Given the description of an element on the screen output the (x, y) to click on. 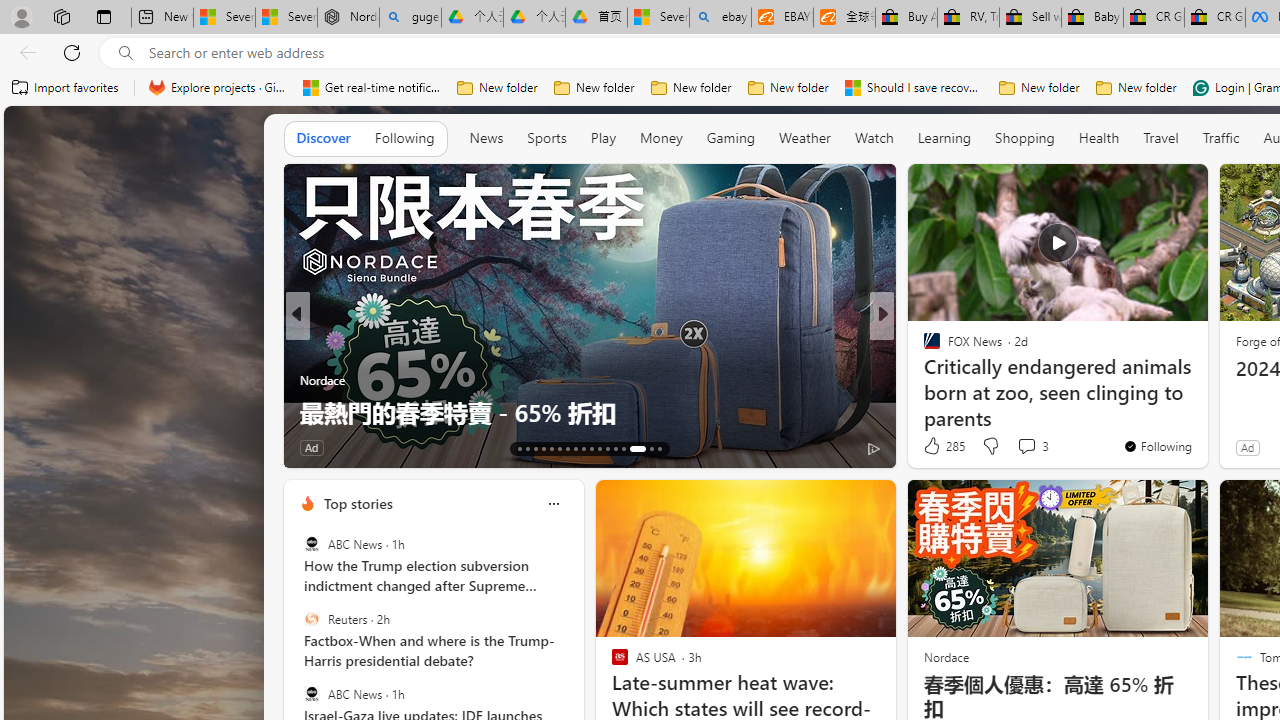
Sell worldwide with eBay (1030, 17)
Shopping (1025, 137)
ABC News (311, 693)
Play (602, 137)
Discover (323, 137)
New folder (1136, 88)
22 Like (934, 447)
Buy Auto Parts & Accessories | eBay (905, 17)
Health (1098, 138)
ebay - Search (720, 17)
Shopping (1025, 138)
News (485, 138)
More options (553, 503)
Following (404, 138)
